Given the description of an element on the screen output the (x, y) to click on. 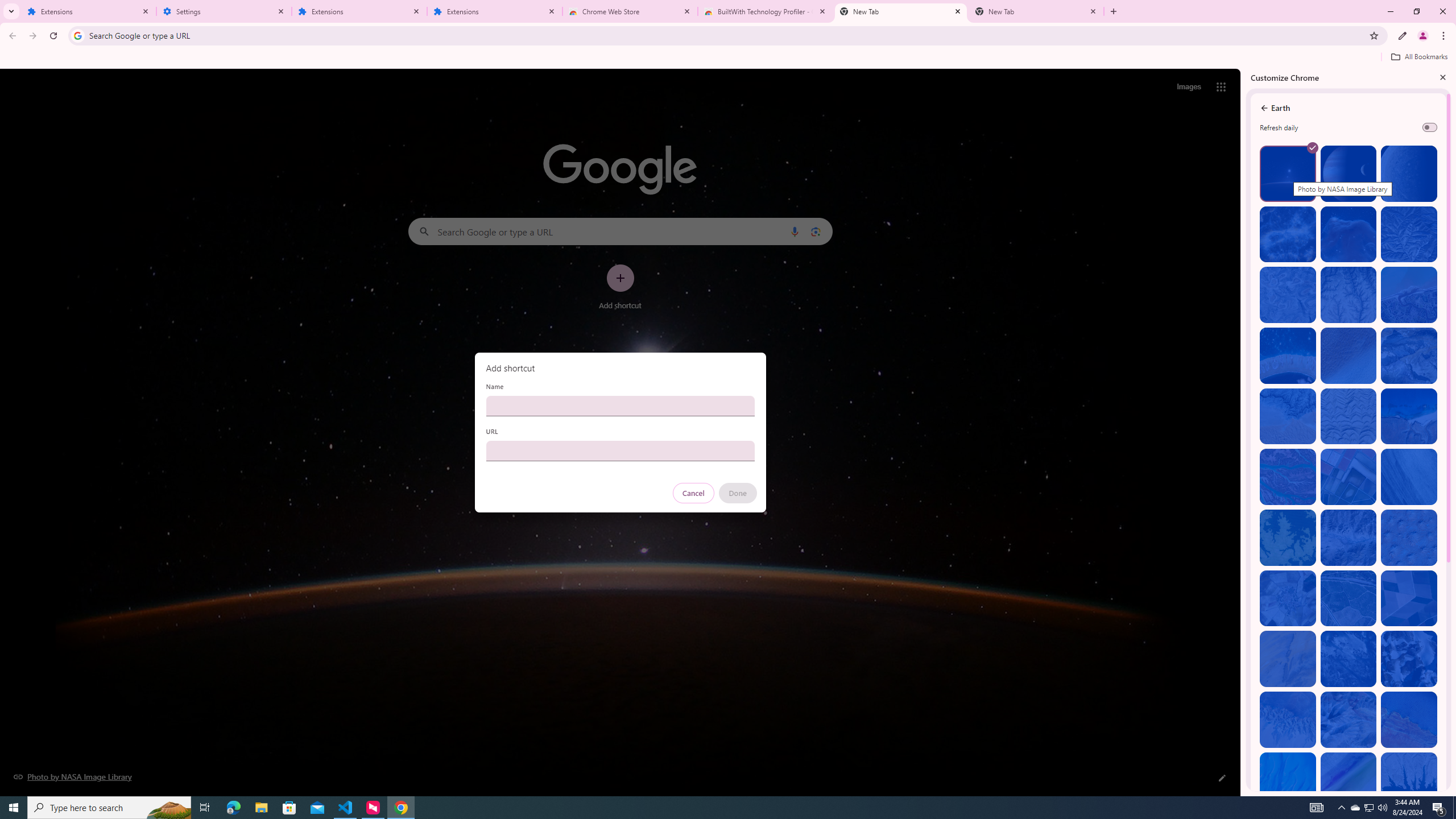
Antarctica (1408, 658)
Zermatt, Wallis, Switzerland (1408, 355)
Customize Chrome (1402, 35)
Cancel (693, 493)
Hainan, China (1408, 780)
Dekese, DR Congo (1287, 537)
Pozoantiguo, Spain (1287, 598)
Iceland (1408, 476)
Chrome Web Store (630, 11)
AutomationID: svg (1311, 147)
